Given the description of an element on the screen output the (x, y) to click on. 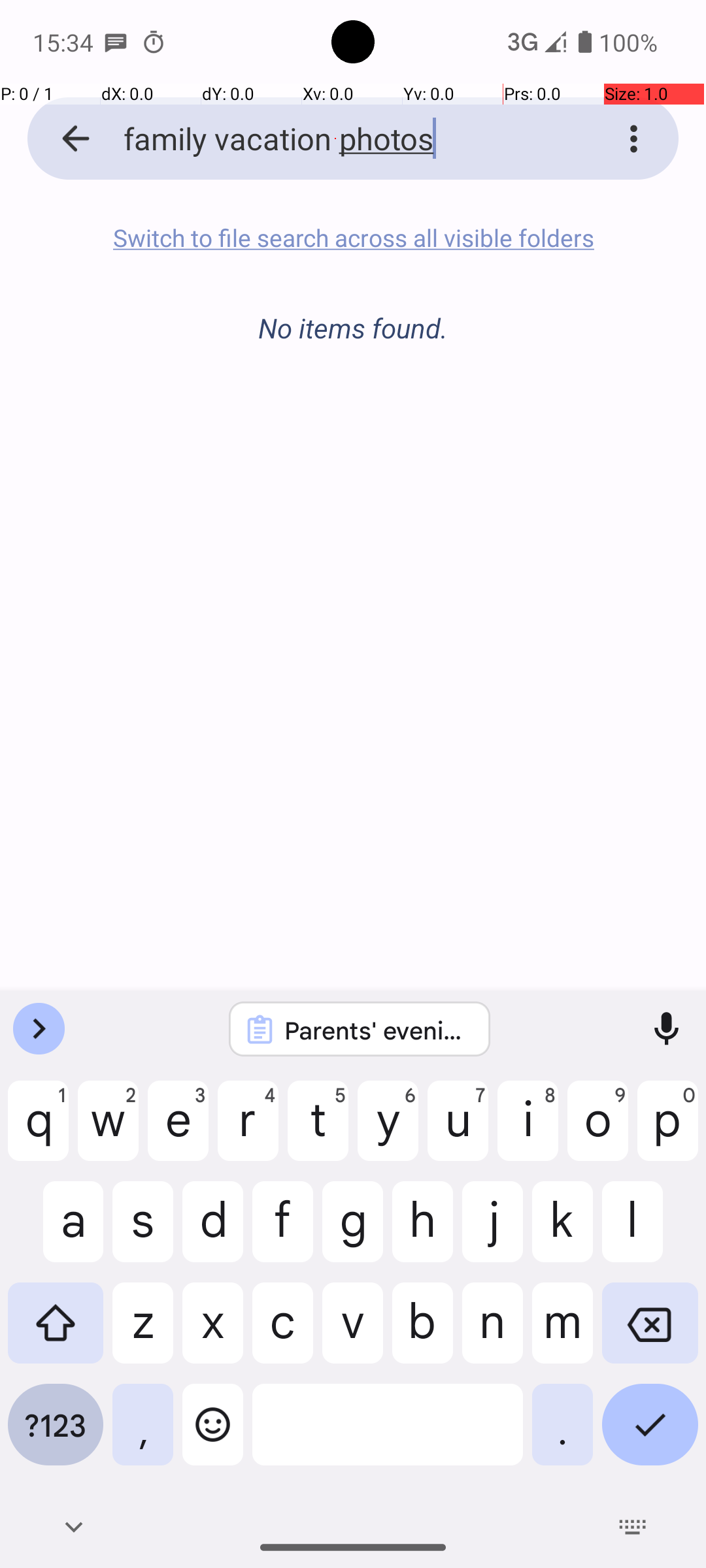
Switch to file search across all visible folders Element type: android.widget.TextView (353, 237)
family vacation photos Element type: android.widget.EditText (335, 138)
Parents' evening at school this Wednesday. Element type: android.widget.TextView (376, 1029)
